Given the description of an element on the screen output the (x, y) to click on. 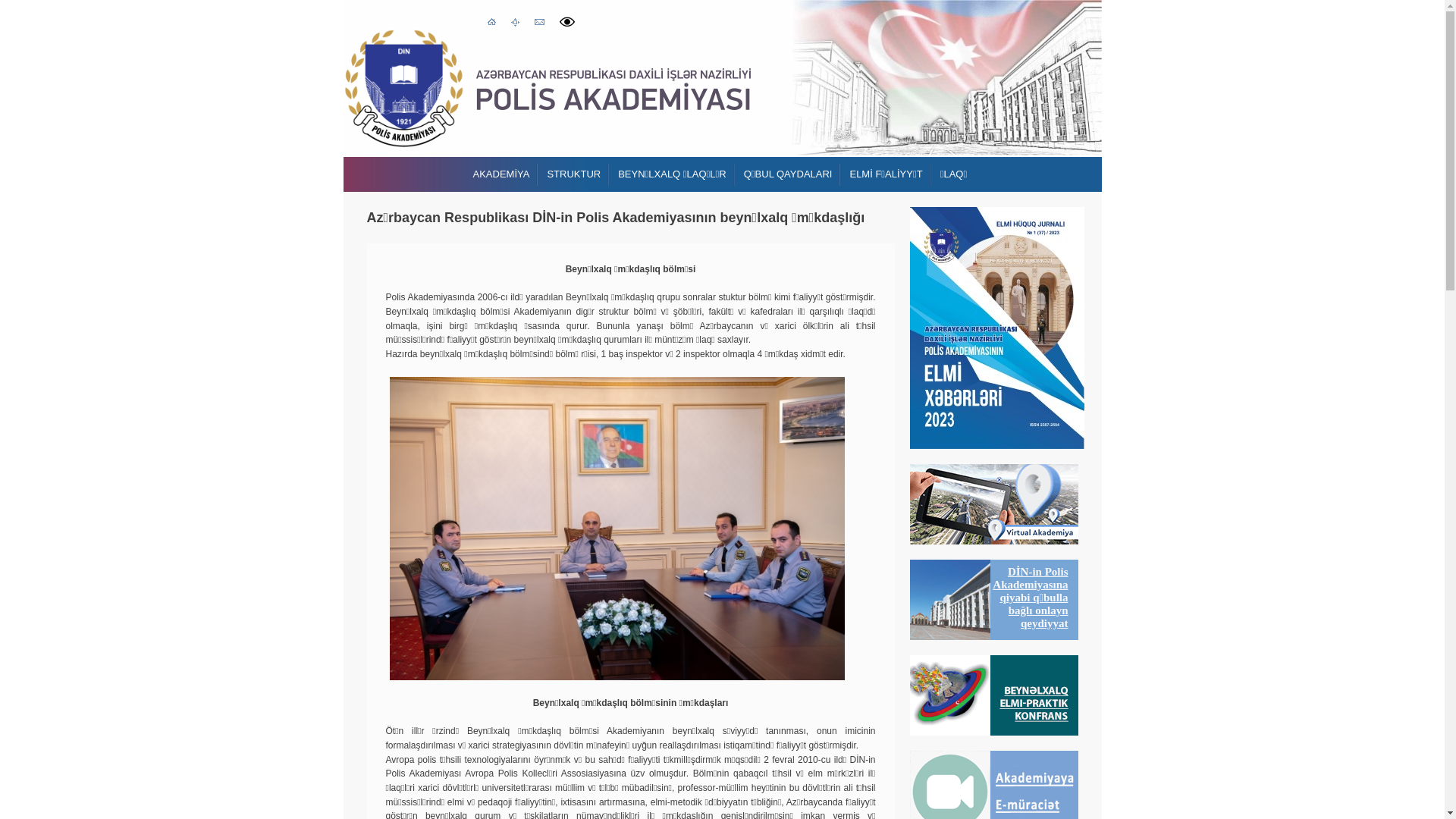
Polis Akademiyasi Element type: text (402, 88)
Polis Akademiyasi Element type: text (613, 88)
STRUKTUR Element type: text (573, 173)
